Given the description of an element on the screen output the (x, y) to click on. 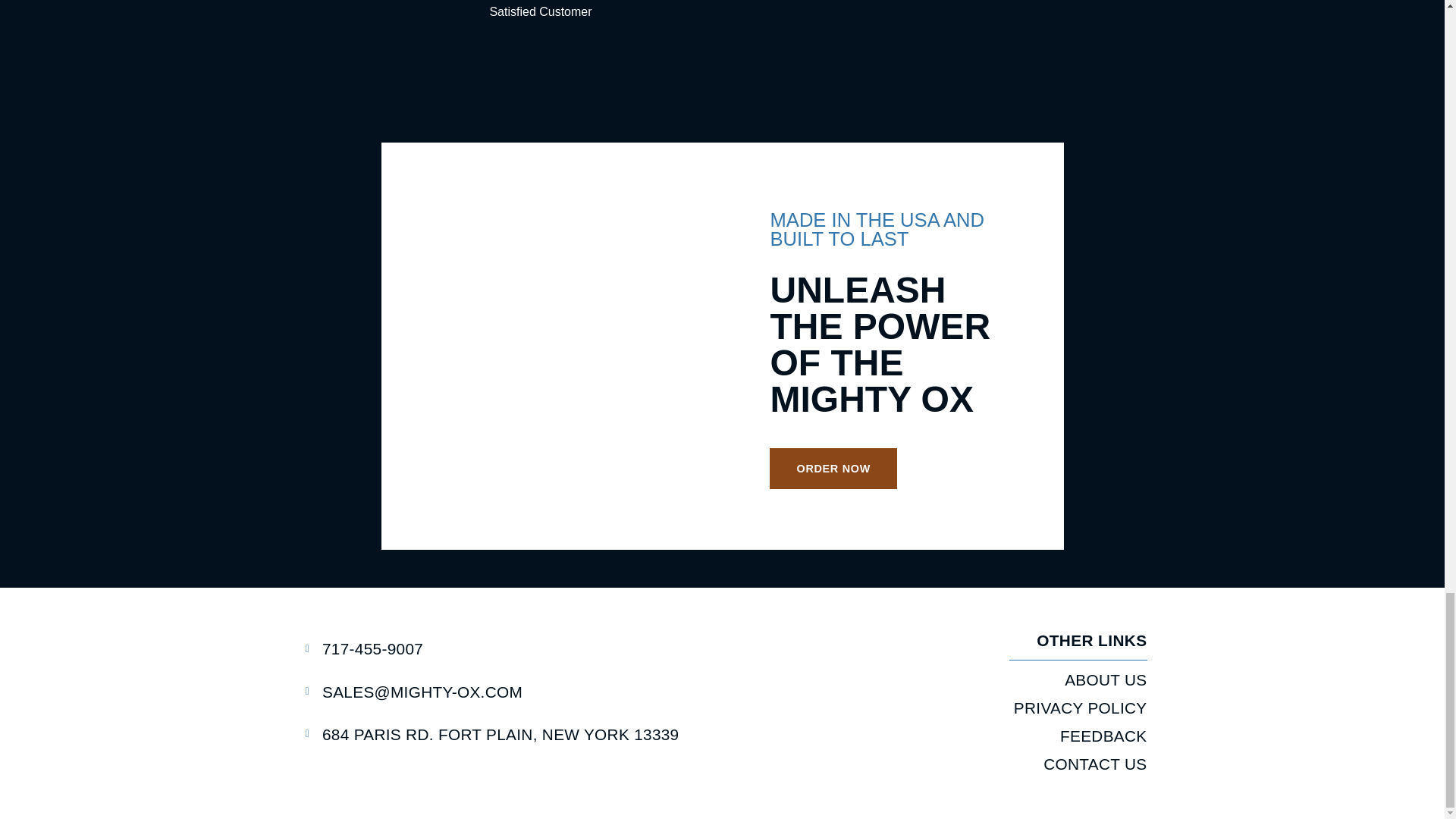
ORDER NOW (833, 467)
CONTACT US (938, 764)
717-455-9007 (513, 648)
FEEDBACK (938, 736)
PRIVACY POLICY (938, 708)
ABOUT US (938, 679)
684 PARIS RD. FORT PLAIN, NEW YORK 13339 (513, 734)
